Given the description of an element on the screen output the (x, y) to click on. 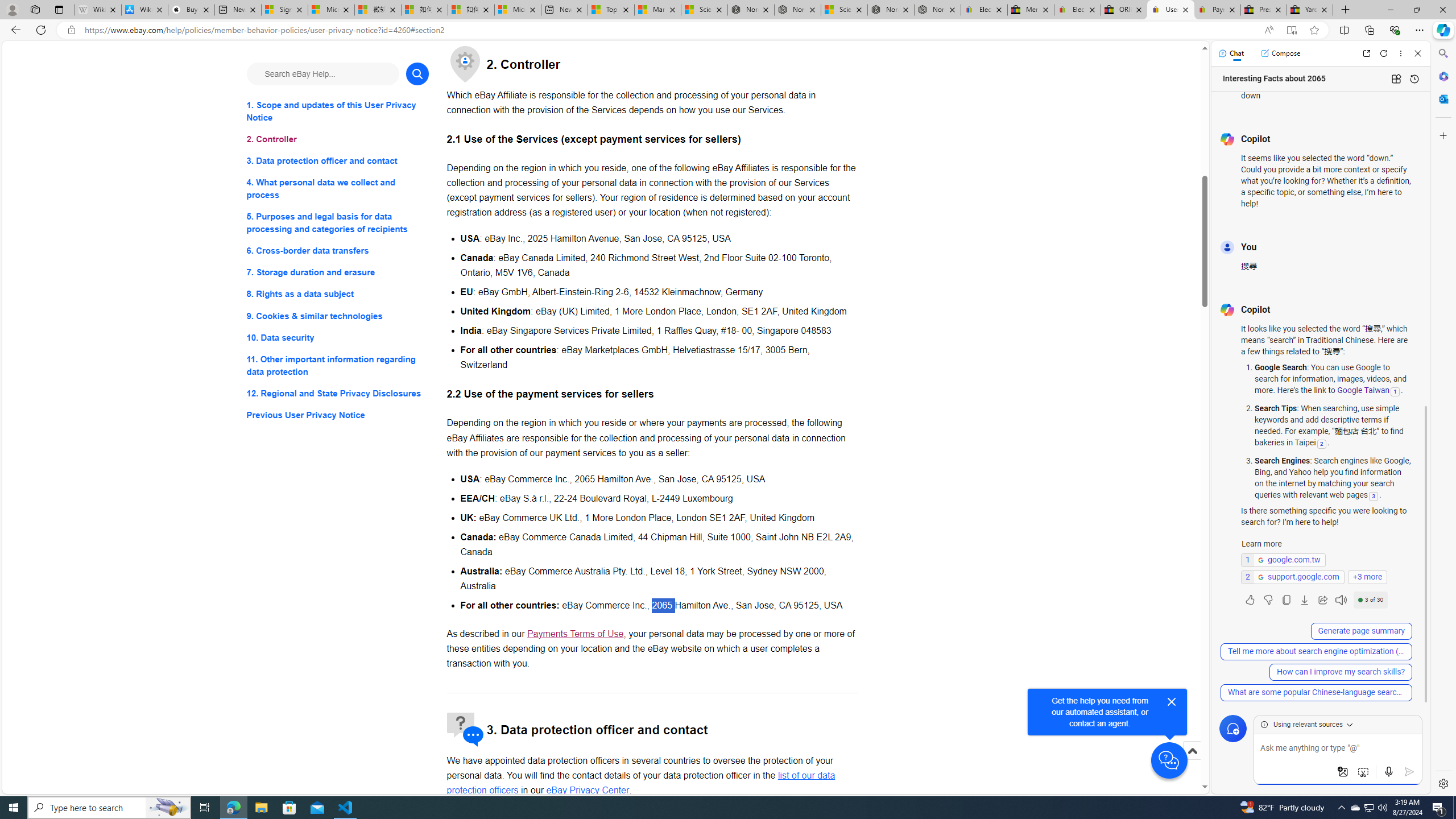
11. Other important information regarding data protection (337, 365)
Split screen (1344, 29)
Scroll to top (1191, 750)
New tab (563, 9)
12. Regional and State Privacy Disclosures (337, 392)
